Given the description of an element on the screen output the (x, y) to click on. 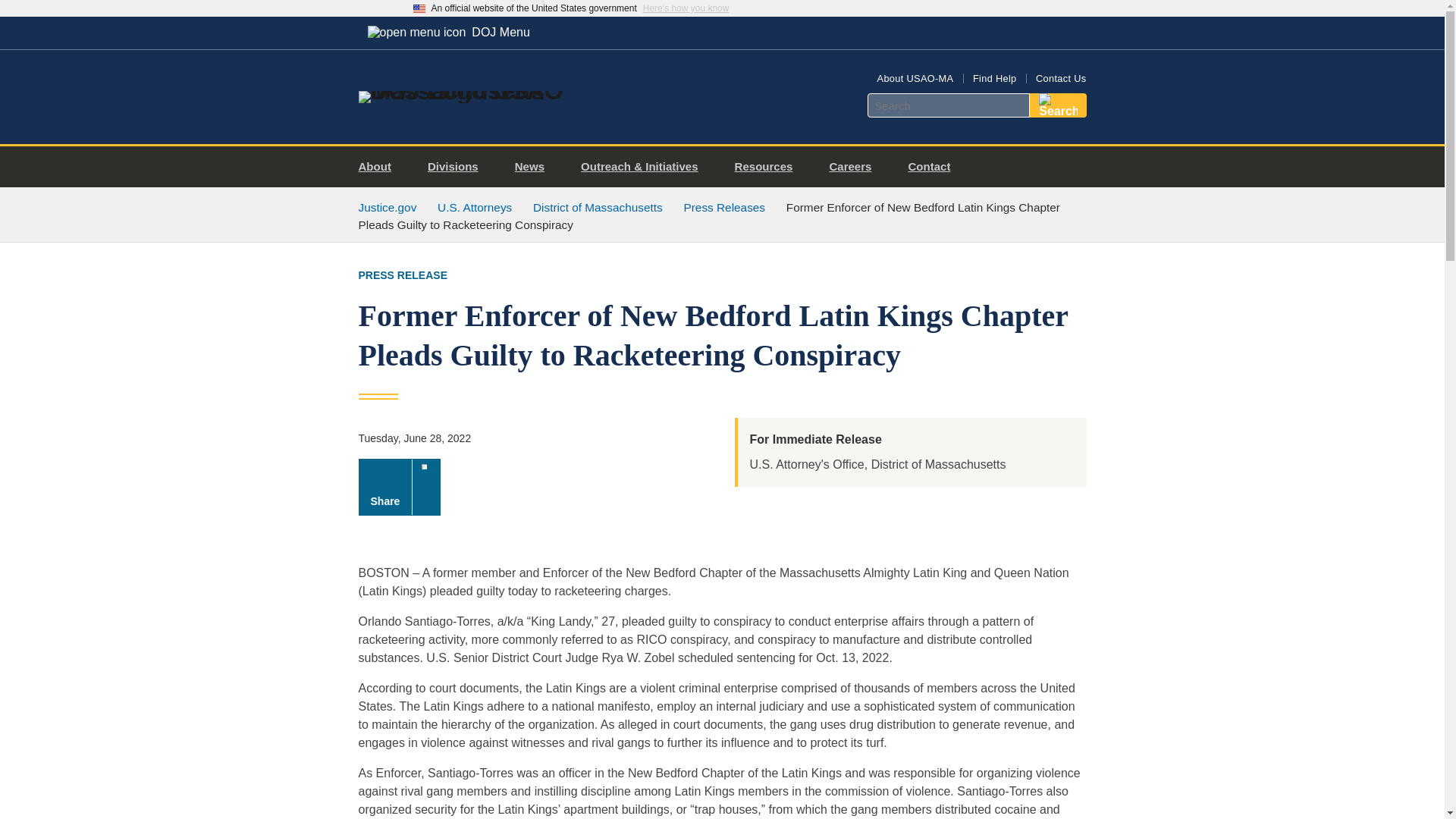
DOJ Menu (448, 32)
News (535, 167)
Justice.gov (387, 206)
Home (481, 90)
Here's how you know (686, 8)
Divisions (458, 167)
Share (398, 486)
District of Massachusetts (597, 206)
About USAO-MA (915, 78)
Contact Us (1060, 78)
Press Releases (723, 206)
Contact (934, 167)
U.S. Attorneys (475, 206)
Resources (769, 167)
About (380, 167)
